Given the description of an element on the screen output the (x, y) to click on. 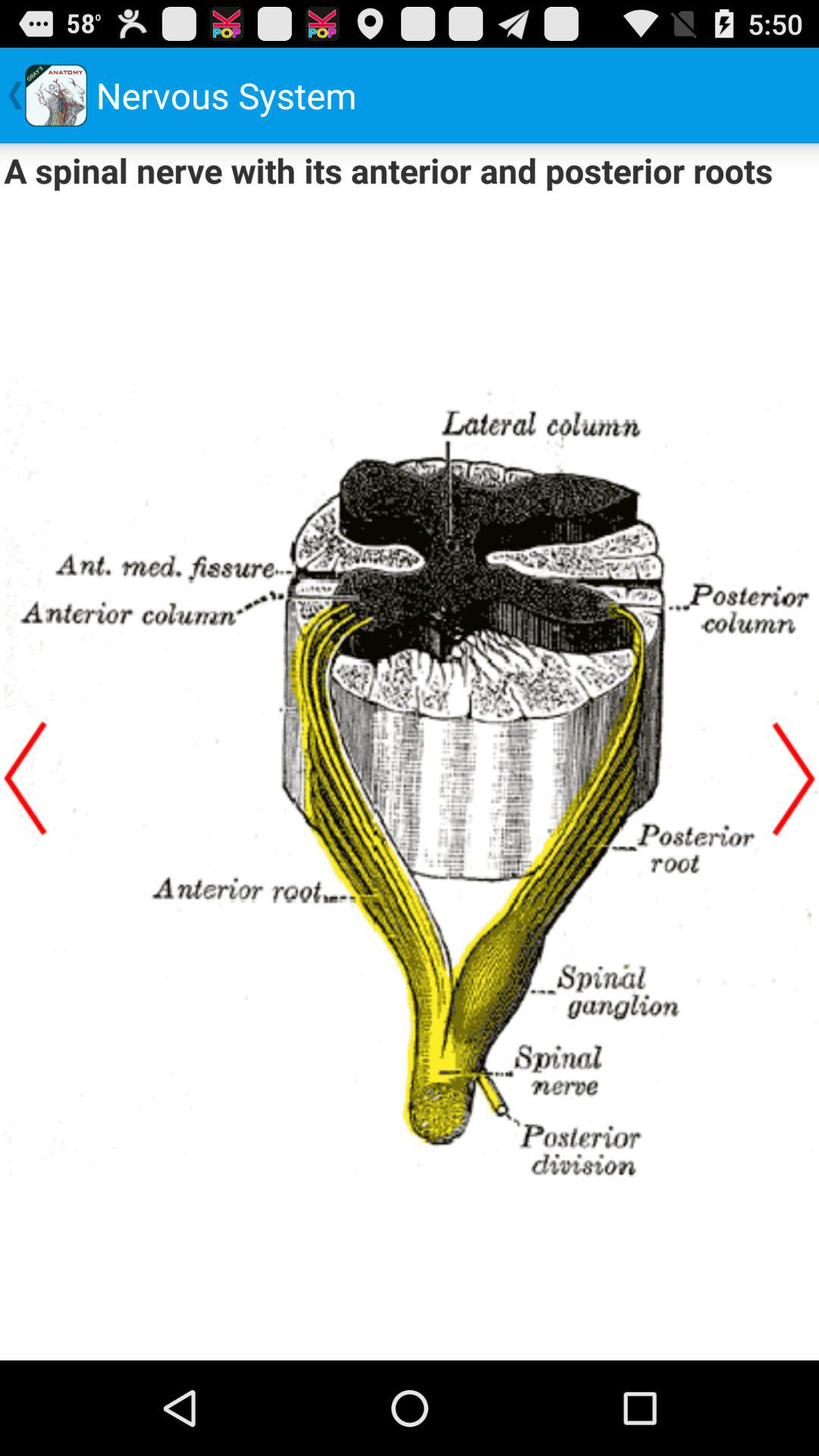
click to next image (793, 778)
